Given the description of an element on the screen output the (x, y) to click on. 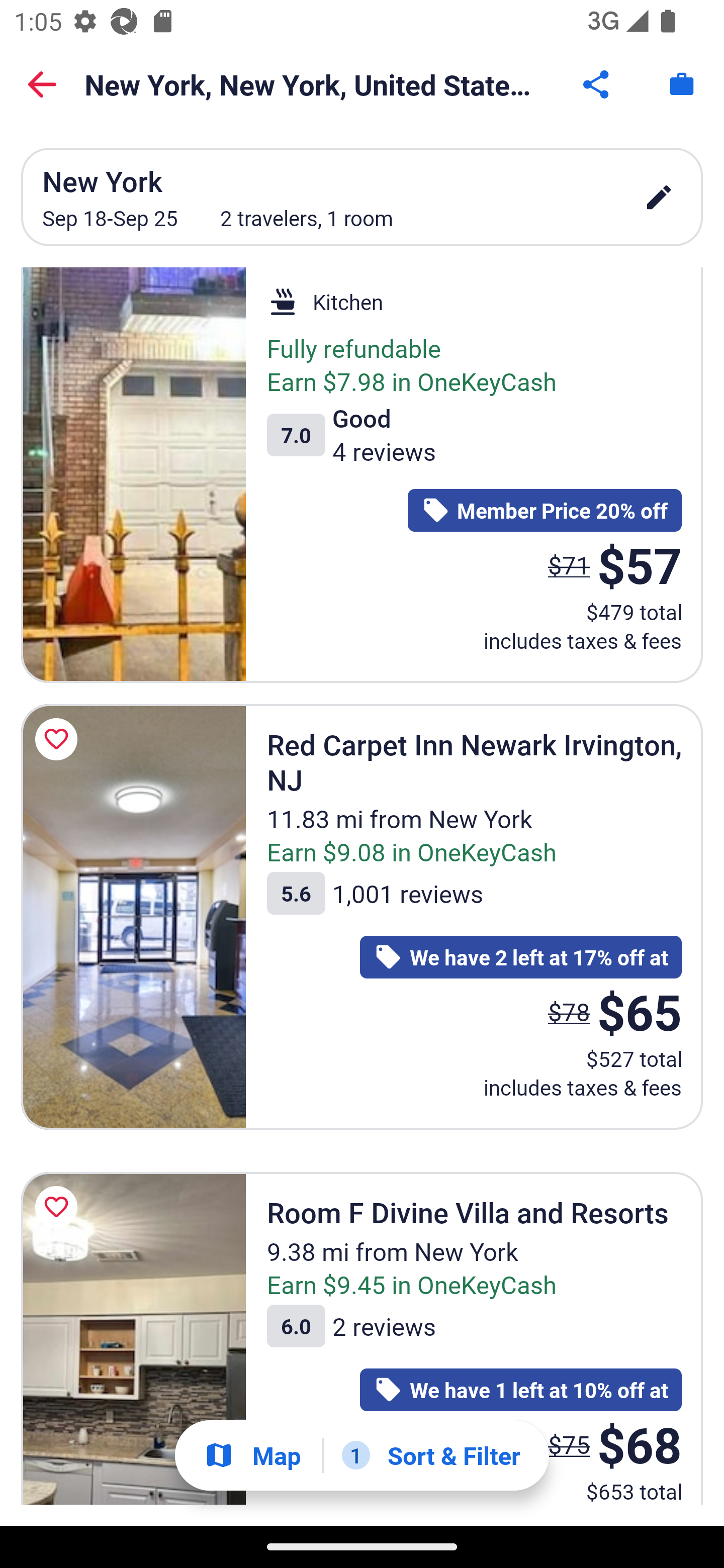
Back (42, 84)
Share Button (597, 84)
Trips. Button (681, 84)
New York Sep 18-Sep 25 2 travelers, 1 room edit (361, 196)
ROOM D 6 MINS EWR AIRPORT CLOSE TO NY (133, 475)
$71 The price was $71 (569, 564)
Save Red Carpet Inn Newark Irvington, NJ to a trip (59, 738)
Red Carpet Inn Newark Irvington, NJ (133, 917)
$78 The price was $78 (569, 1011)
Save Room F Divine Villa and Resorts to a trip (59, 1207)
Room F Divine Villa and Resorts (133, 1338)
1 Sort & Filter 1 Filter applied. Filters Button (430, 1455)
Show map Map Show map Button (252, 1455)
